Given the description of an element on the screen output the (x, y) to click on. 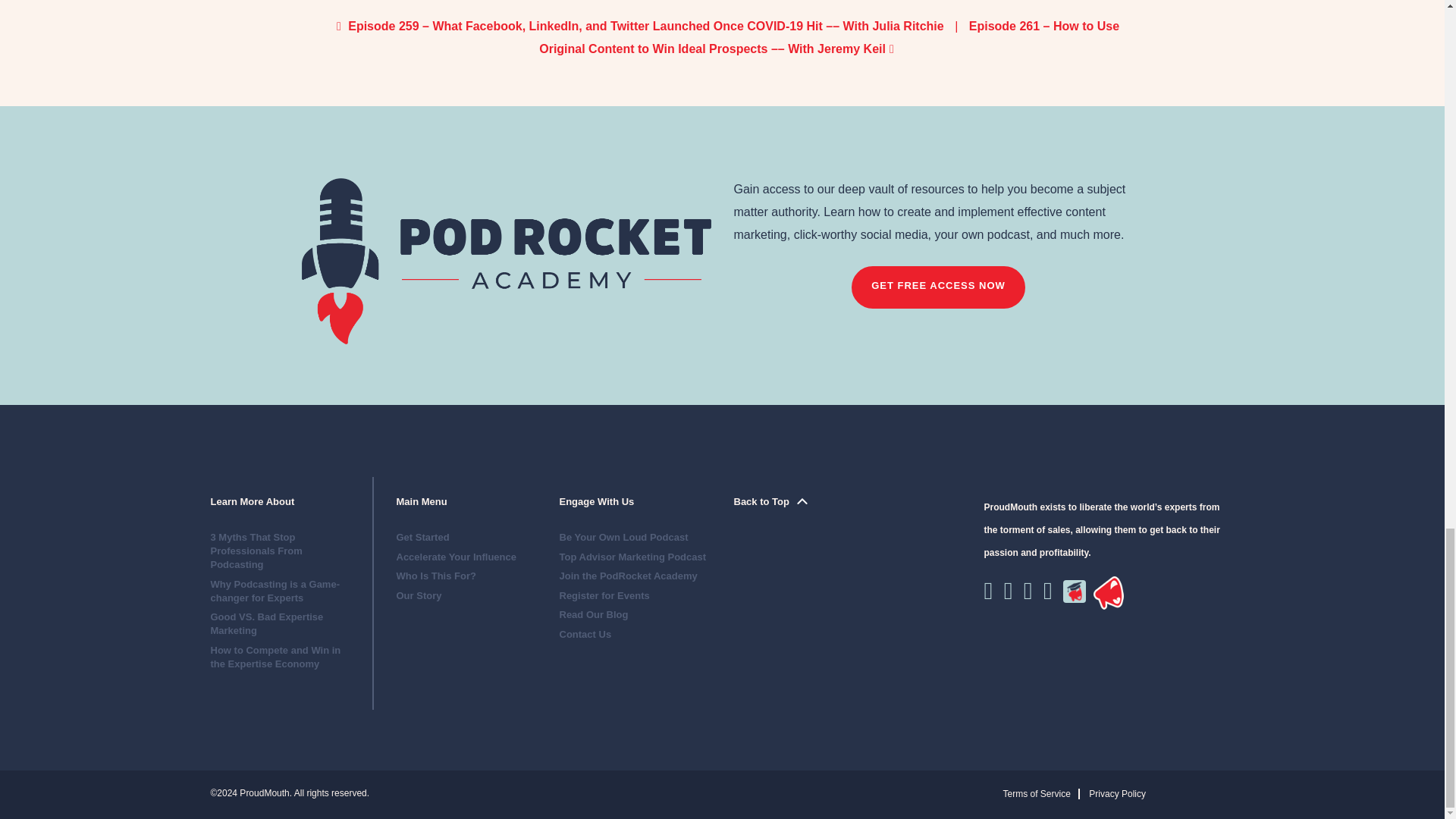
Why Podcasting is a Game-changer for Experts (275, 590)
Go to top (770, 501)
3 Myths That Stop Professionals From Podcasting (256, 550)
Back to Top (770, 501)
GET FREE ACCESS NOW (938, 287)
Good VS. Bad Expertise Marketing (267, 623)
How to Compete and Win in the Expertise Economy (275, 656)
